Given the description of an element on the screen output the (x, y) to click on. 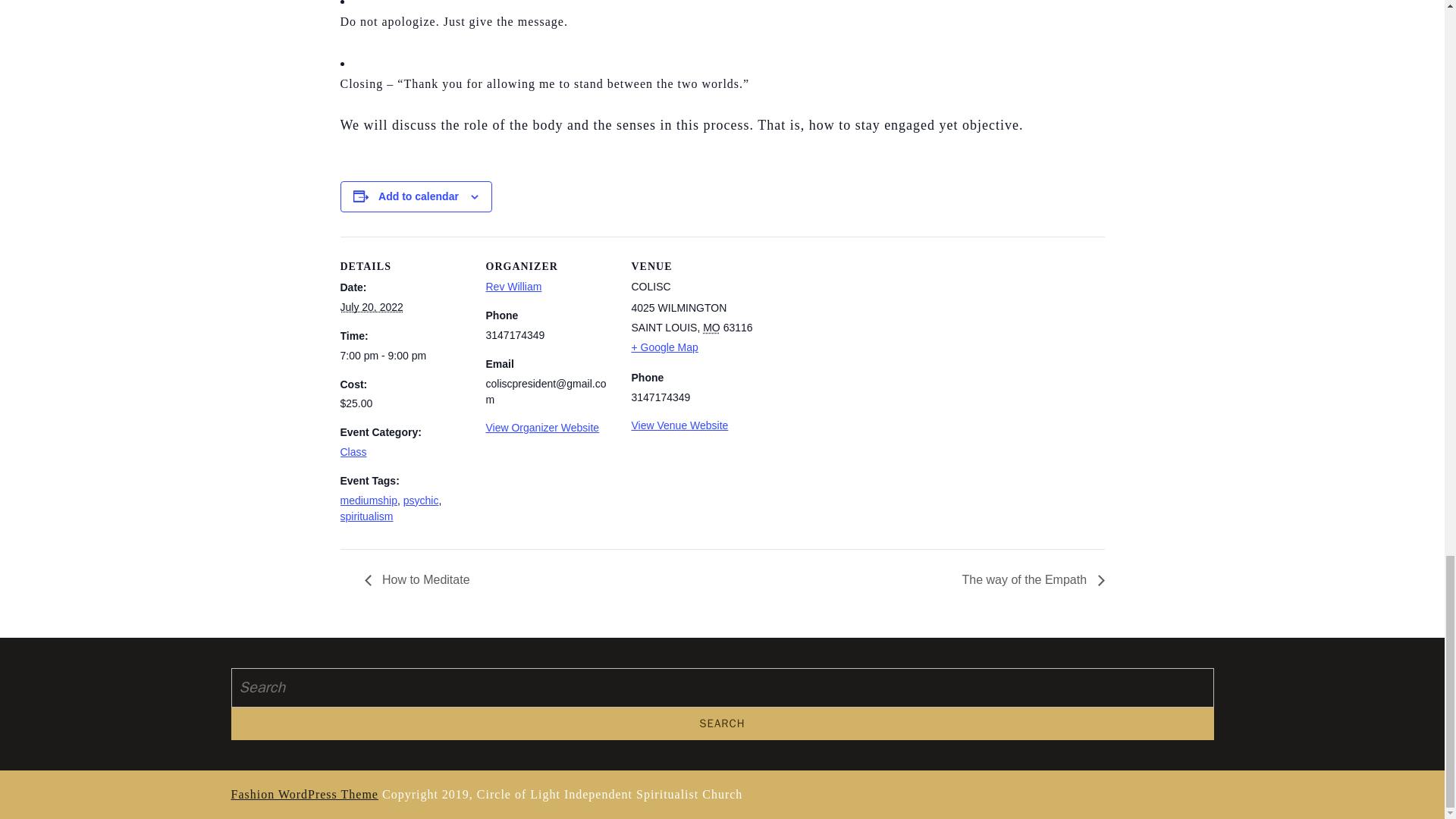
Search (721, 723)
spiritualism (366, 516)
mediumship (367, 500)
2022-07-20 (371, 306)
Add to calendar (418, 196)
Missouri (711, 327)
psychic (421, 500)
Search (721, 723)
Click to view a Google Map (663, 346)
Class (352, 451)
Rev William (512, 286)
2022-07-20 (403, 355)
